Given the description of an element on the screen output the (x, y) to click on. 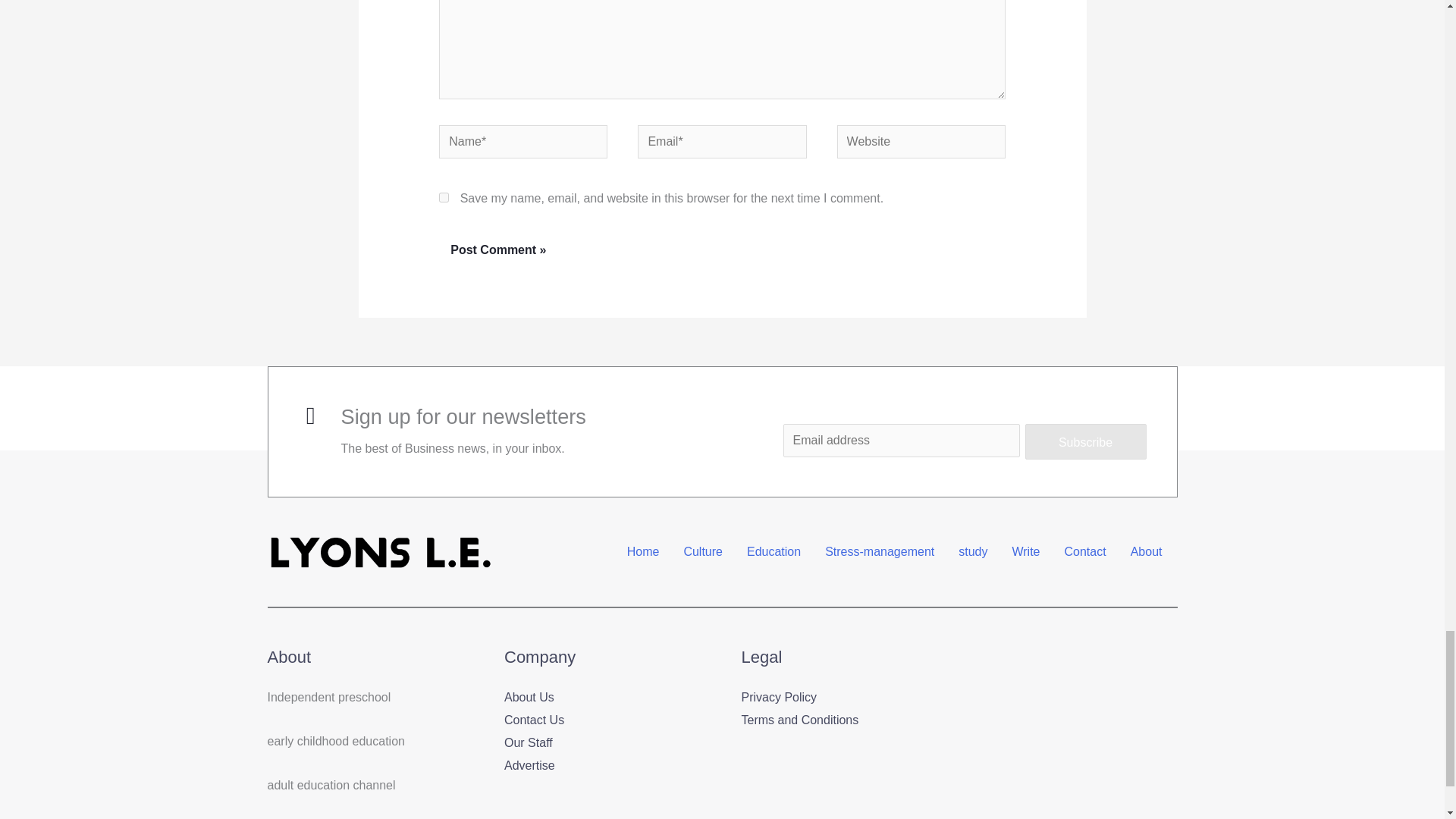
Culture (703, 551)
Subscribe (1086, 442)
About (1146, 551)
Write (1024, 551)
Contact (1085, 551)
Home (642, 551)
yes (443, 197)
Stress-management (879, 551)
Education (773, 551)
study (972, 551)
